Given the description of an element on the screen output the (x, y) to click on. 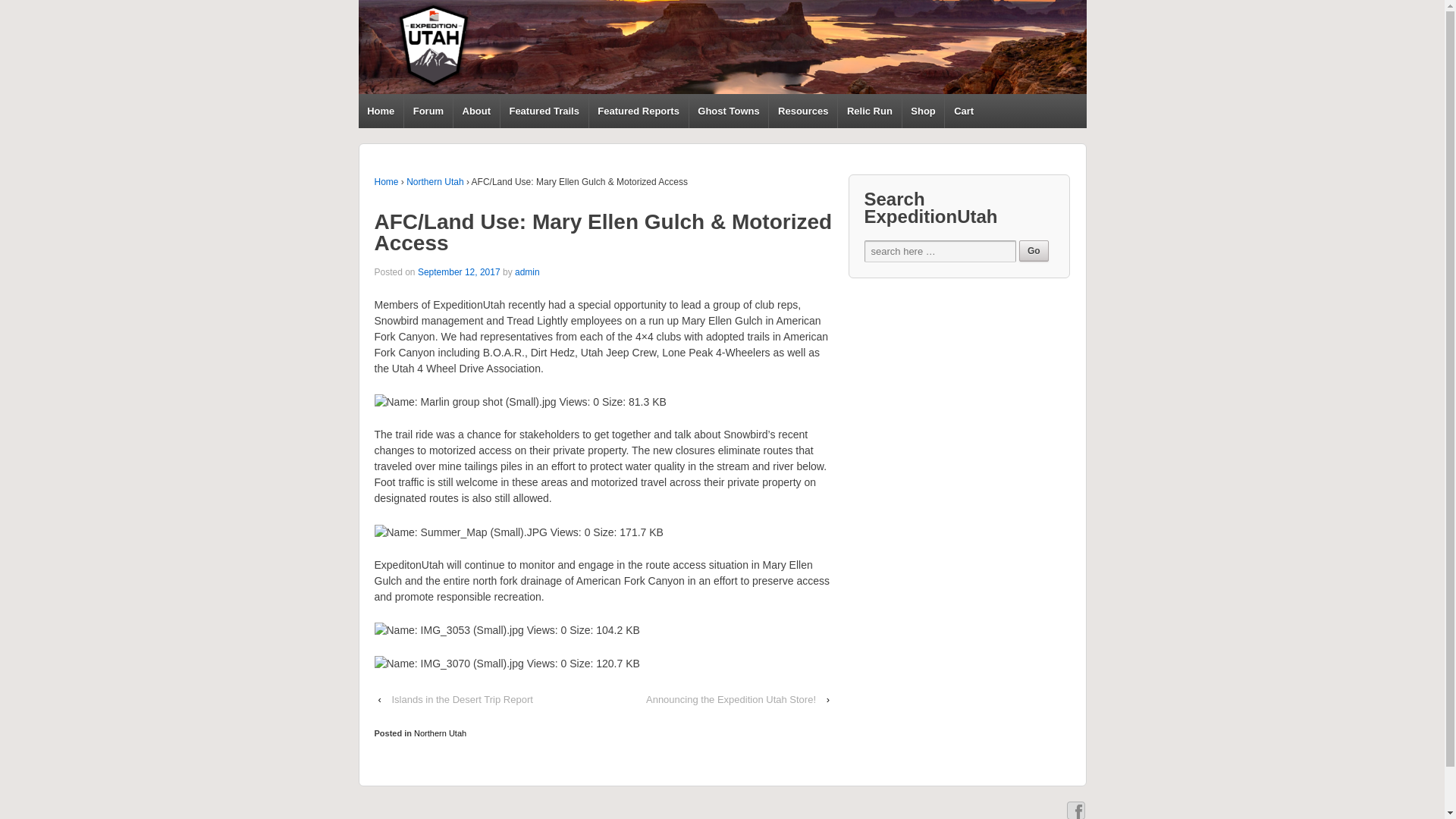
September 12, 2017 (458, 271)
Forum (427, 110)
Shop (922, 110)
Resources (802, 110)
Featured Reports (638, 110)
Northern Utah (434, 181)
About (475, 110)
7:17 pm (458, 271)
Ghost Towns (728, 110)
Home (386, 181)
View all posts by admin (527, 271)
admin (527, 271)
Cart (962, 110)
Go (1033, 250)
Featured Trails (543, 110)
